Given the description of an element on the screen output the (x, y) to click on. 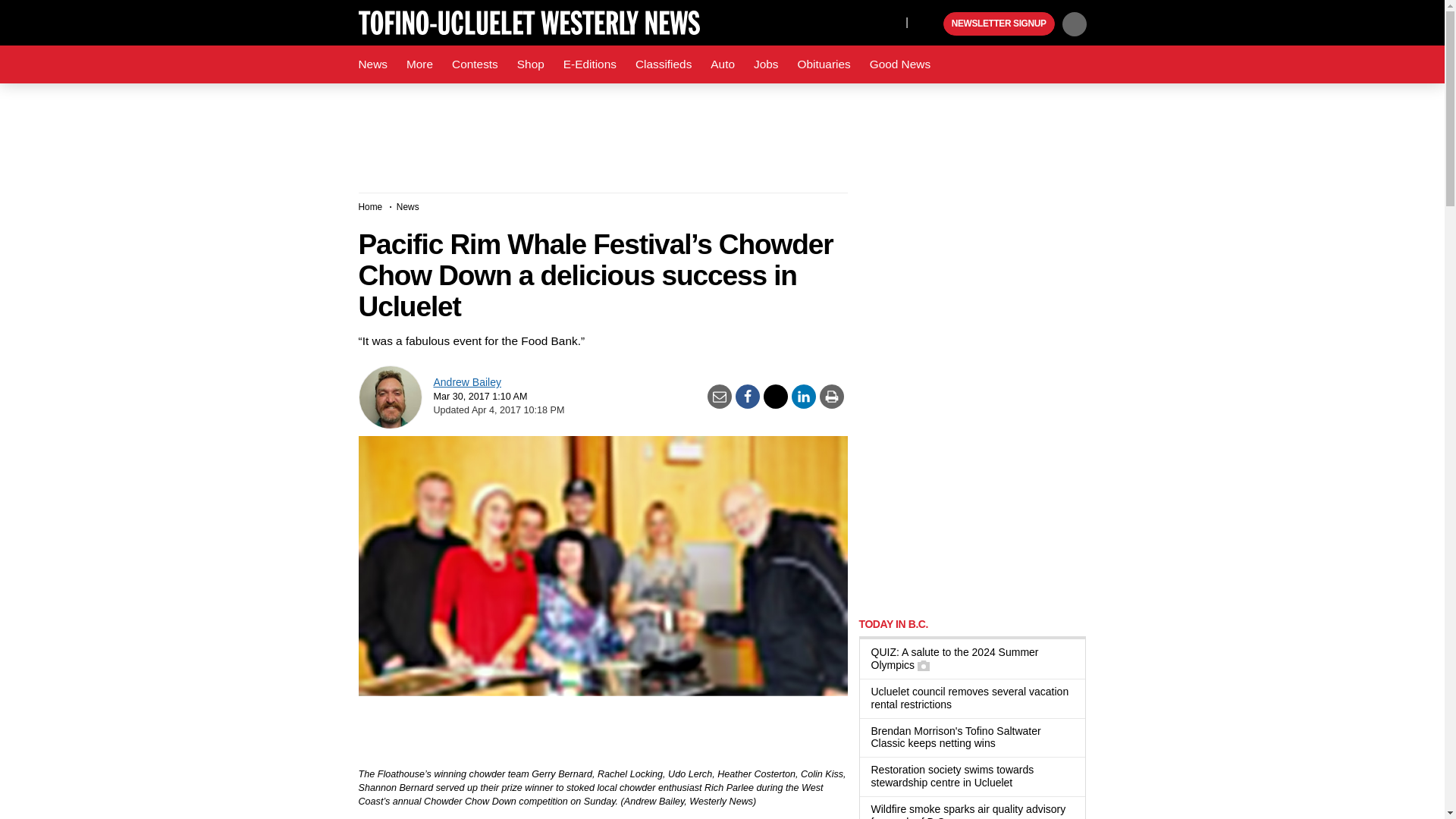
News (372, 64)
X (889, 21)
NEWSLETTER SIGNUP (998, 24)
Has a gallery (923, 665)
Play (929, 24)
Black Press Media (929, 24)
